Given the description of an element on the screen output the (x, y) to click on. 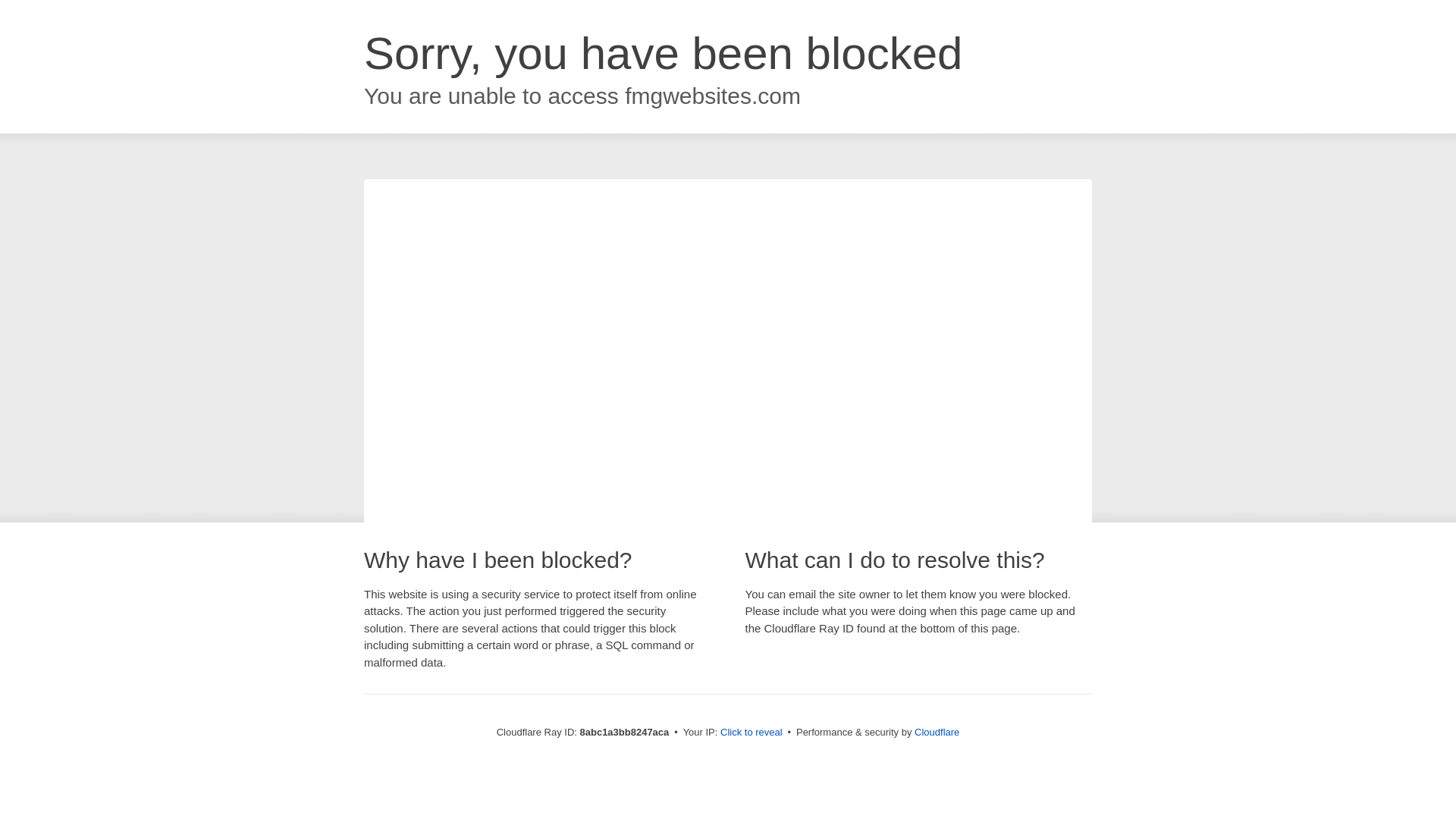
Click to reveal (747, 732)
Cloudflare (933, 731)
